Given the description of an element on the screen output the (x, y) to click on. 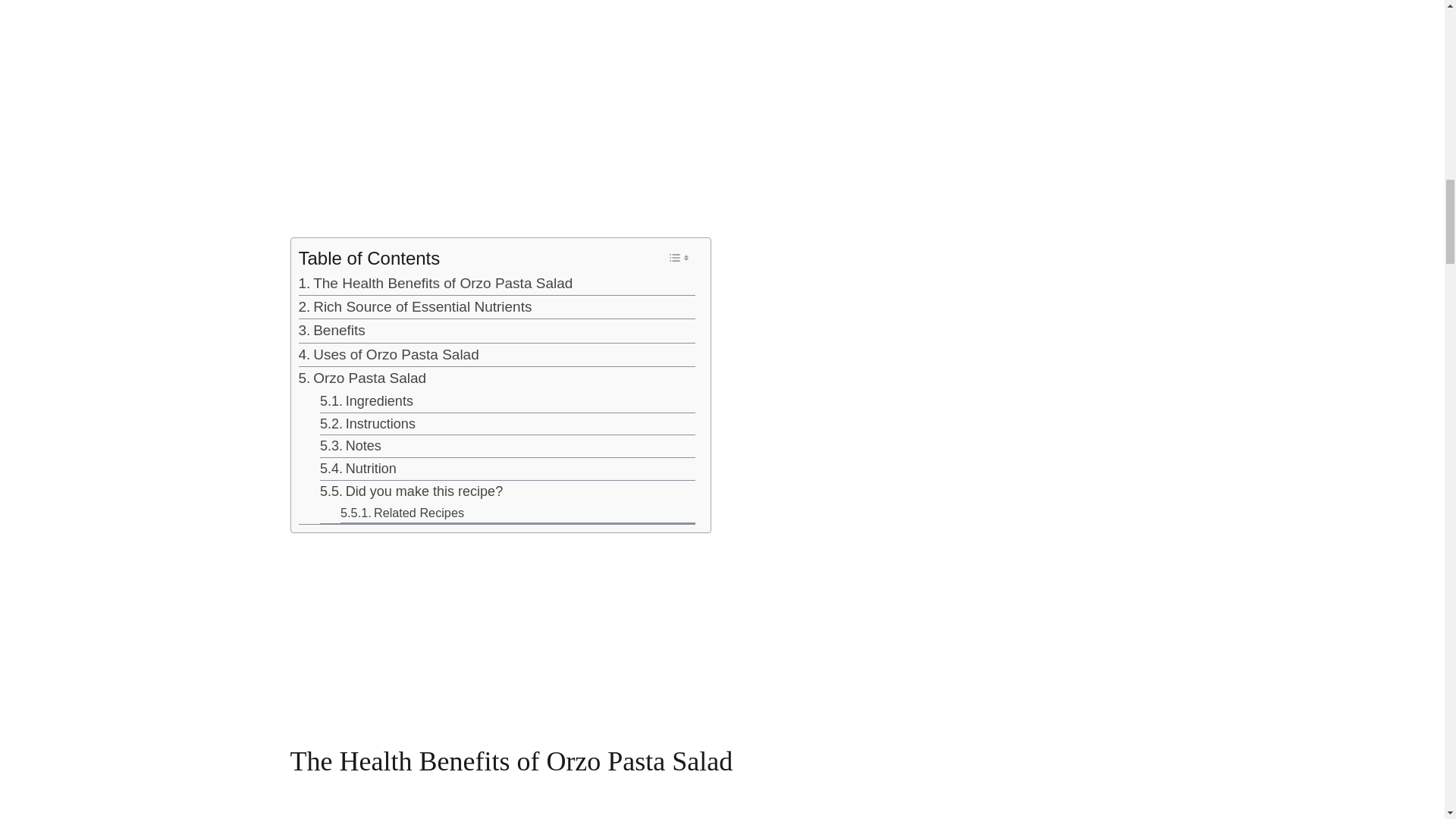
Nutrition (358, 468)
Instructions (367, 423)
Benefits (331, 330)
Did you make this recipe? (411, 491)
Related Recipes (402, 512)
Rich Source of Essential Nutrients (415, 306)
Ingredients (366, 401)
Nutrition (358, 468)
Rich Source of Essential Nutrients (415, 306)
Orzo Pasta Salad (362, 377)
The Health Benefits of Orzo Pasta Salad (435, 282)
Orzo Pasta Salad (362, 377)
Related Recipes (402, 512)
Uses of Orzo Pasta Salad (388, 354)
The Health Benefits of Orzo Pasta Salad (435, 282)
